Given the description of an element on the screen output the (x, y) to click on. 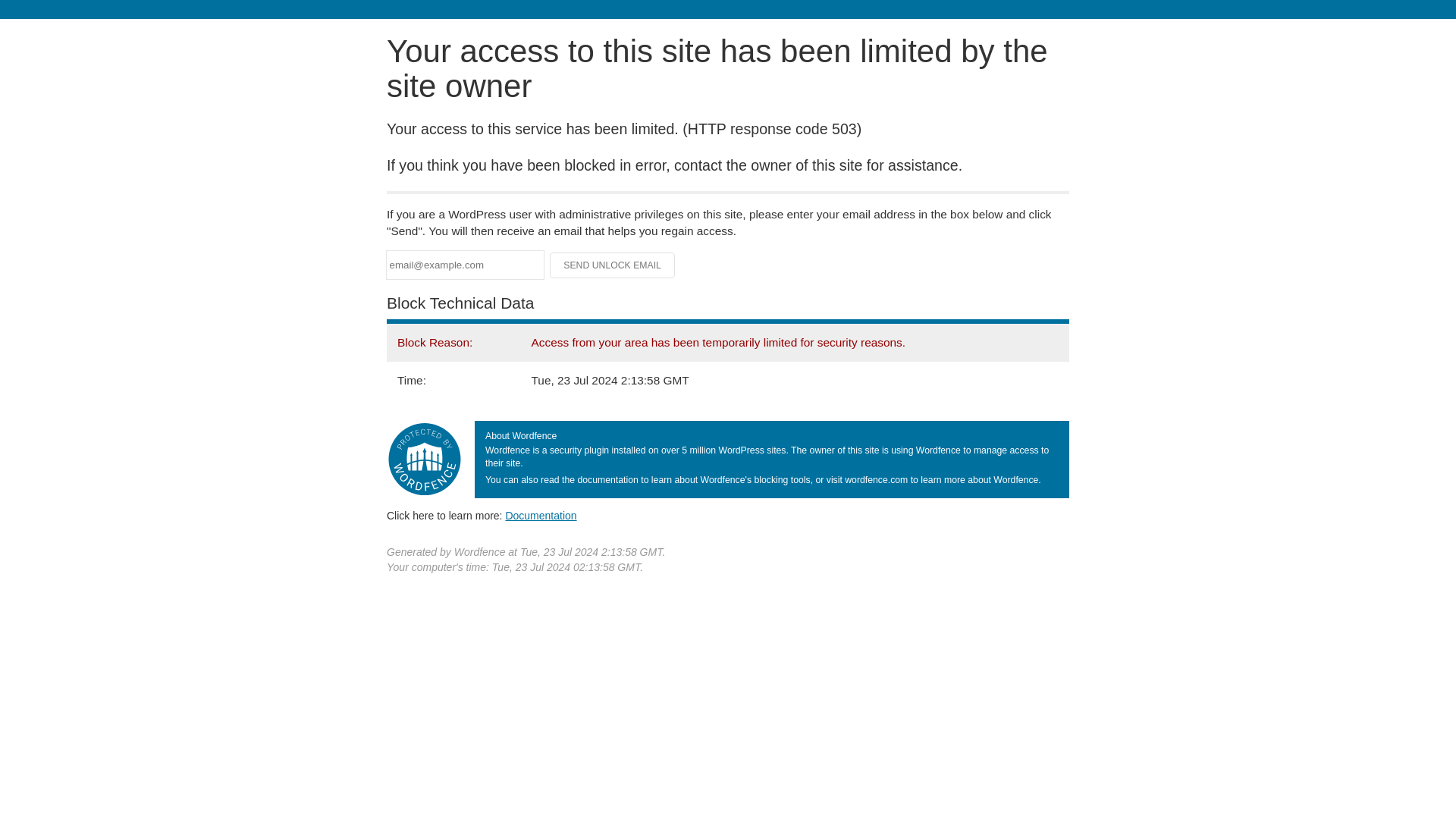
Documentation (540, 515)
Send Unlock Email (612, 265)
Send Unlock Email (612, 265)
